Given the description of an element on the screen output the (x, y) to click on. 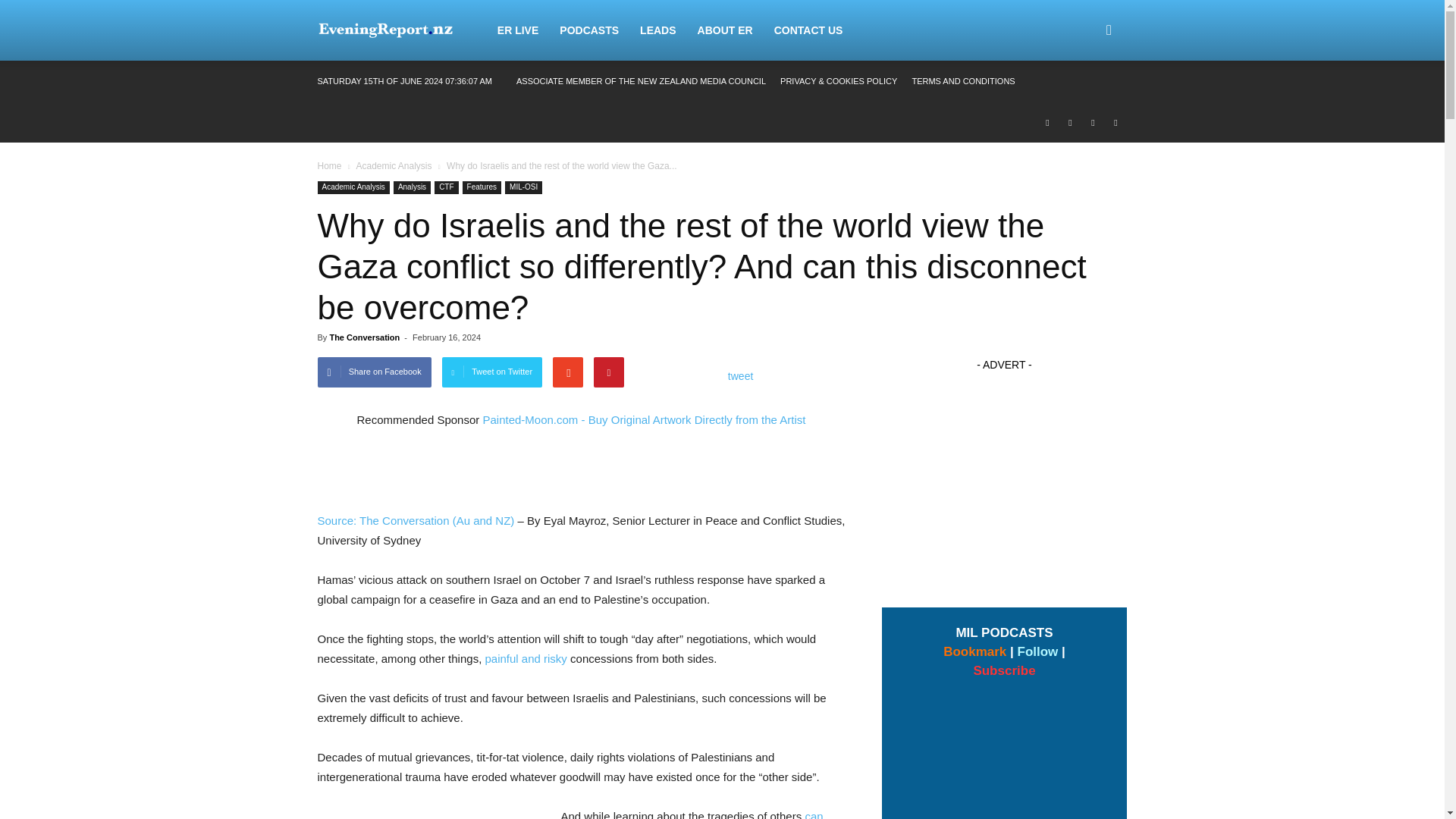
Academic Analysis (352, 187)
MIL-OSI (523, 187)
can support (569, 814)
Twitter (1092, 122)
painful and risky (525, 658)
PODCASTS (588, 30)
LEADS (656, 30)
CTF (445, 187)
Home (328, 165)
Mail (1069, 122)
